Given the description of an element on the screen output the (x, y) to click on. 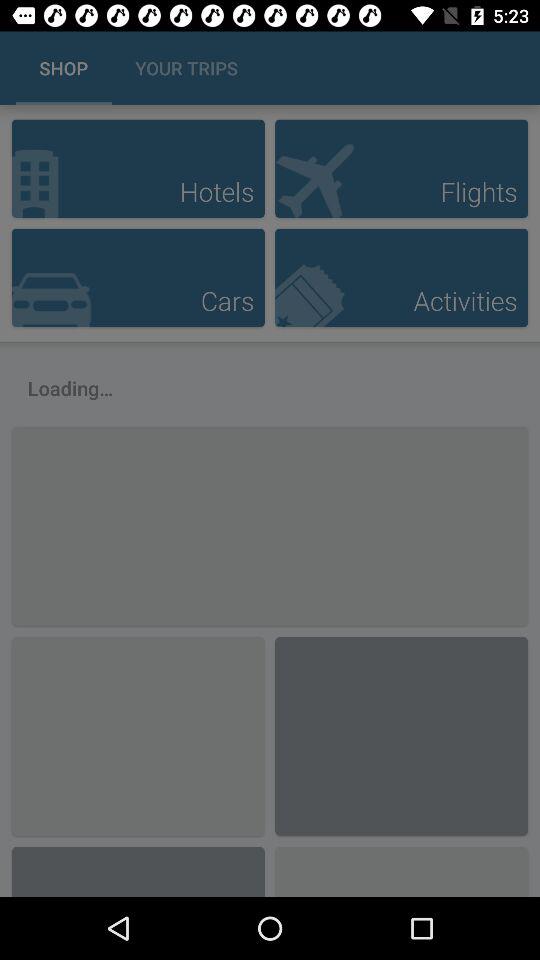
flights button (401, 168)
